Given the description of an element on the screen output the (x, y) to click on. 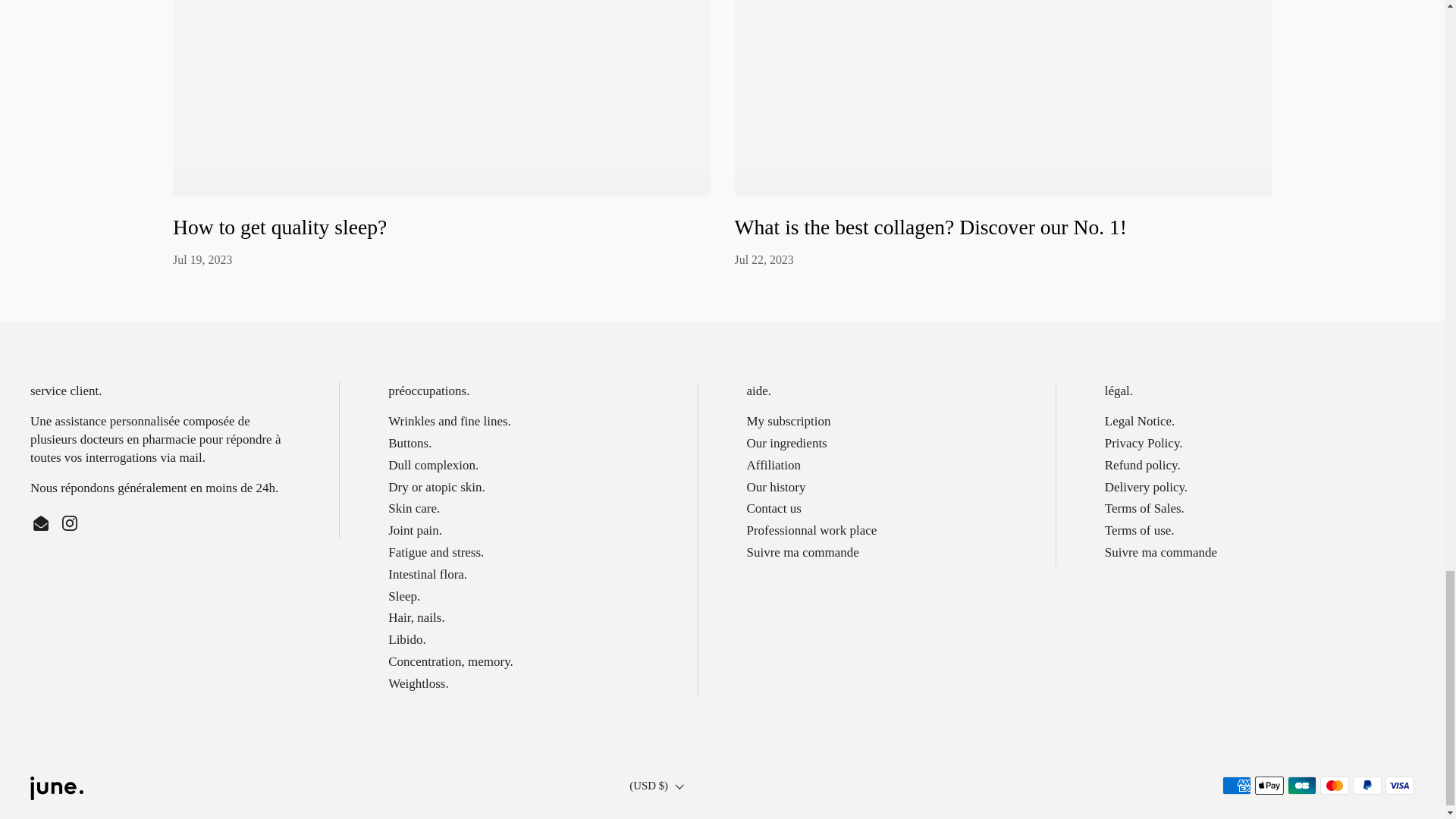
How to get quality sleep? (280, 229)
What is the best collagen? Discover our No. 1! (929, 229)
What is the best collagen? Discover our No. 1! (1002, 97)
How to get quality sleep? (441, 97)
